Given the description of an element on the screen output the (x, y) to click on. 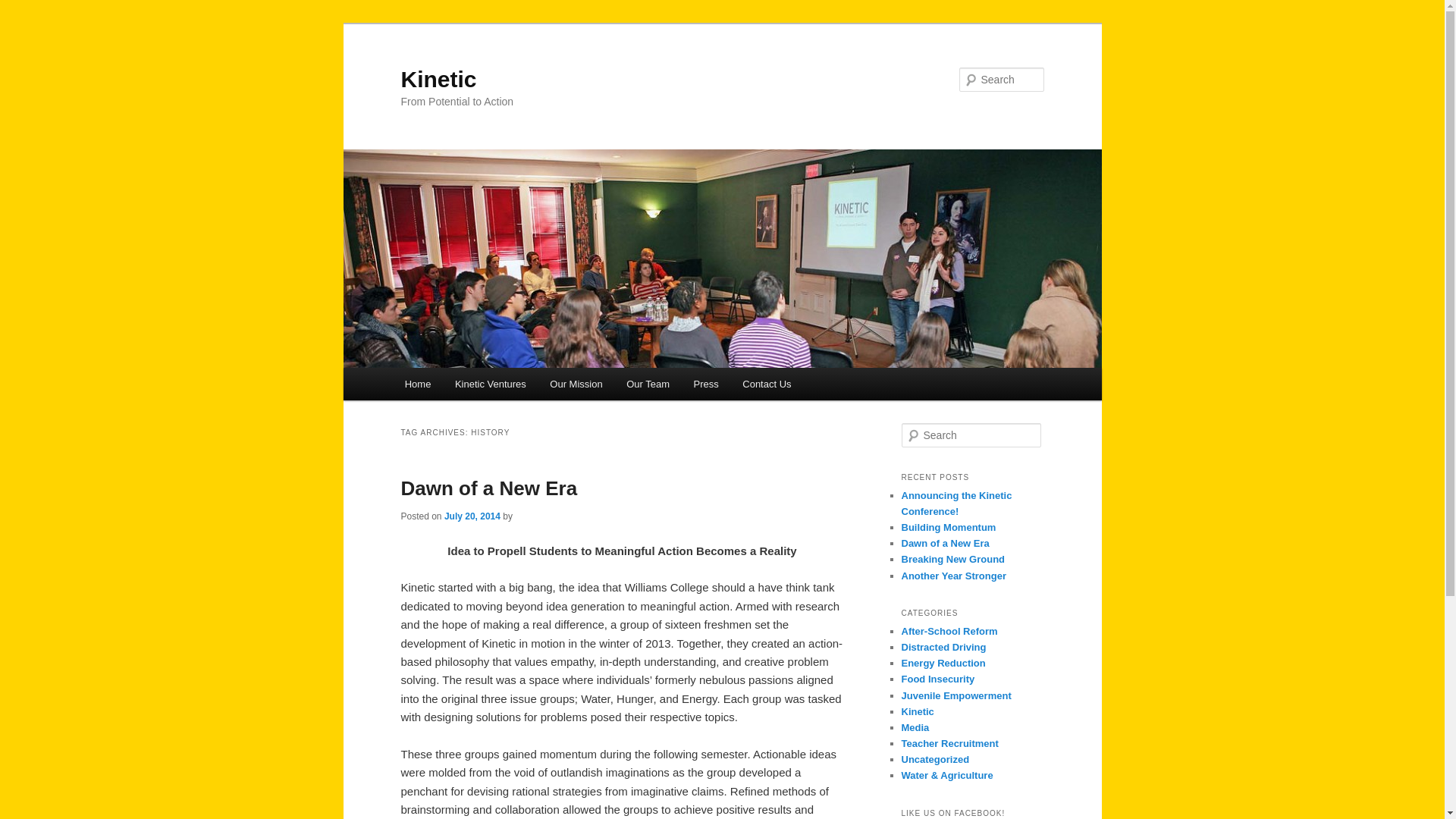
After-School Reform (949, 631)
Announcing the Kinetic Conference! (956, 502)
Search (24, 8)
Kinetic (438, 78)
Our Mission (576, 383)
July 20, 2014 (472, 516)
Search (21, 11)
Another Year Stronger (953, 575)
Distracted Driving (943, 646)
Building Momentum (948, 527)
